Given the description of an element on the screen output the (x, y) to click on. 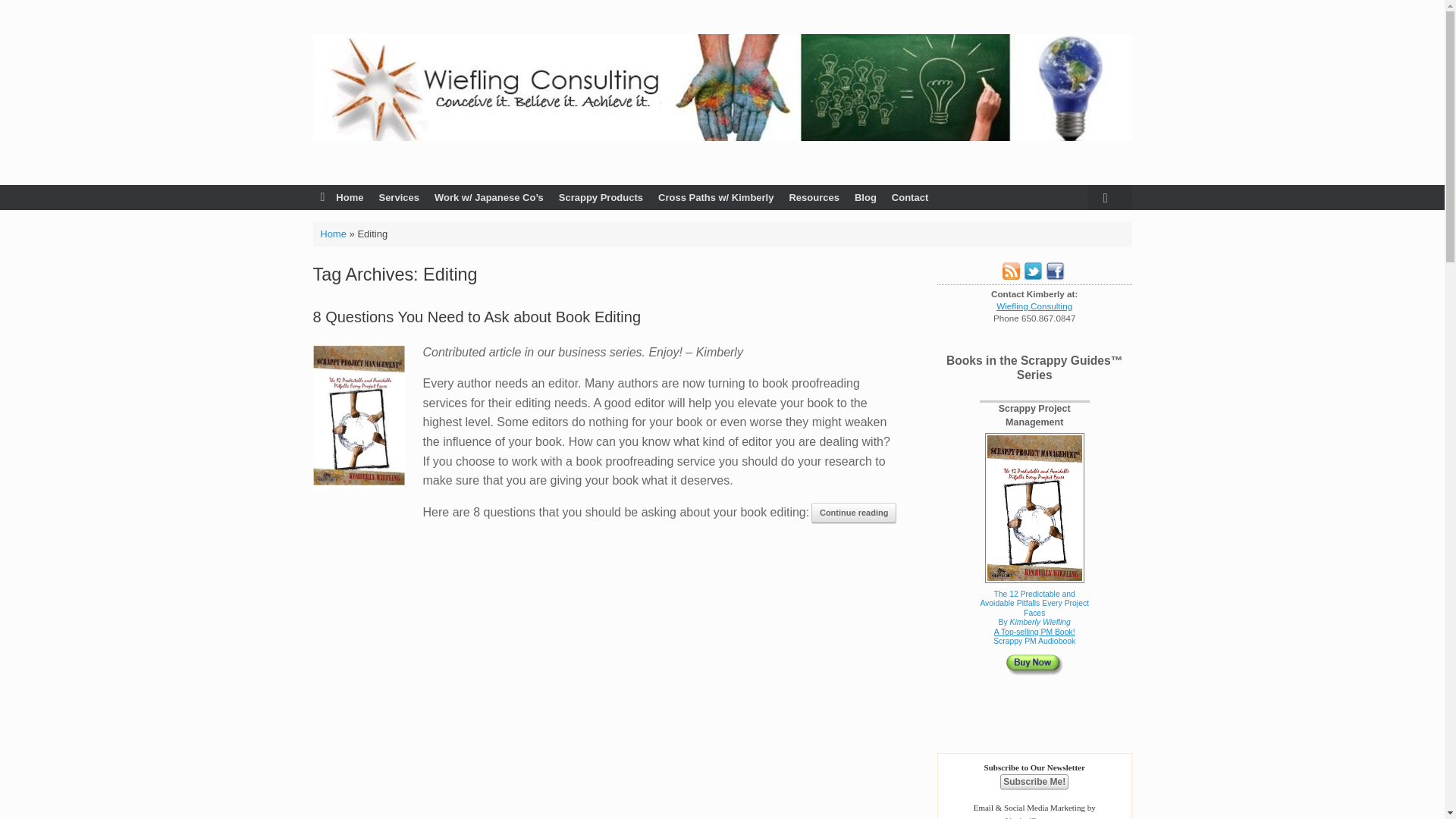
Follow us on twitter (1032, 276)
Services (398, 197)
Buy Scrappy Project Management (1034, 607)
Home (342, 197)
Scrappy Products (600, 197)
Wiefling Consulting (722, 87)
Subscribe to our feed (1010, 276)
Permalink to 8 Questions You Need to Ask about Book Editing (476, 316)
Connect on Facebook (1054, 276)
Subscribe Me! (1034, 781)
